Given the description of an element on the screen output the (x, y) to click on. 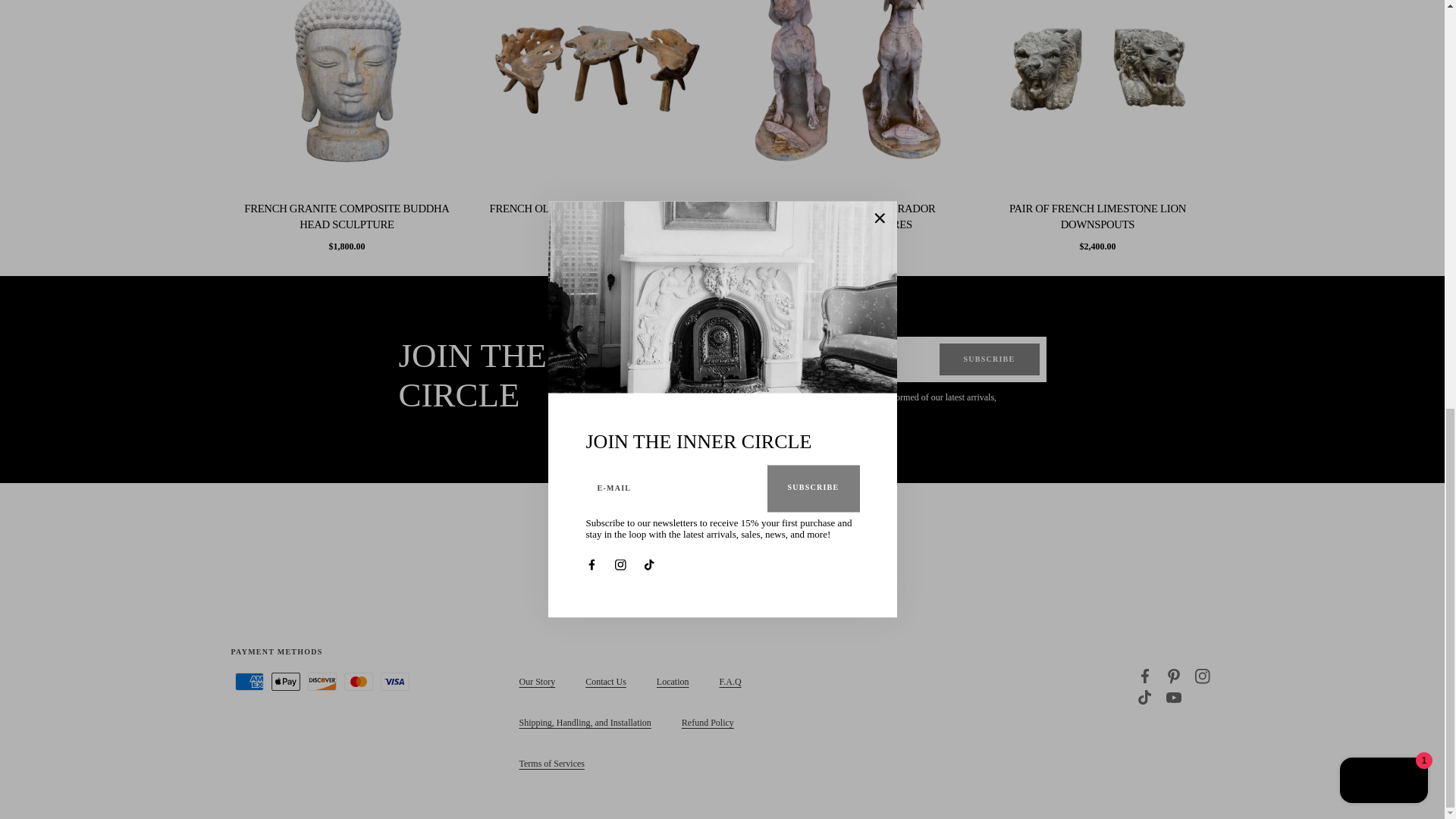
French Olive Tree Wooden Table Set (596, 208)
Pair of French Limestone Lion Downspouts (1096, 215)
French Granite Composite Buddha Head Sculpture (346, 215)
Pair of French Iron Labrador Retriever Sculptures (846, 215)
